Given the description of an element on the screen output the (x, y) to click on. 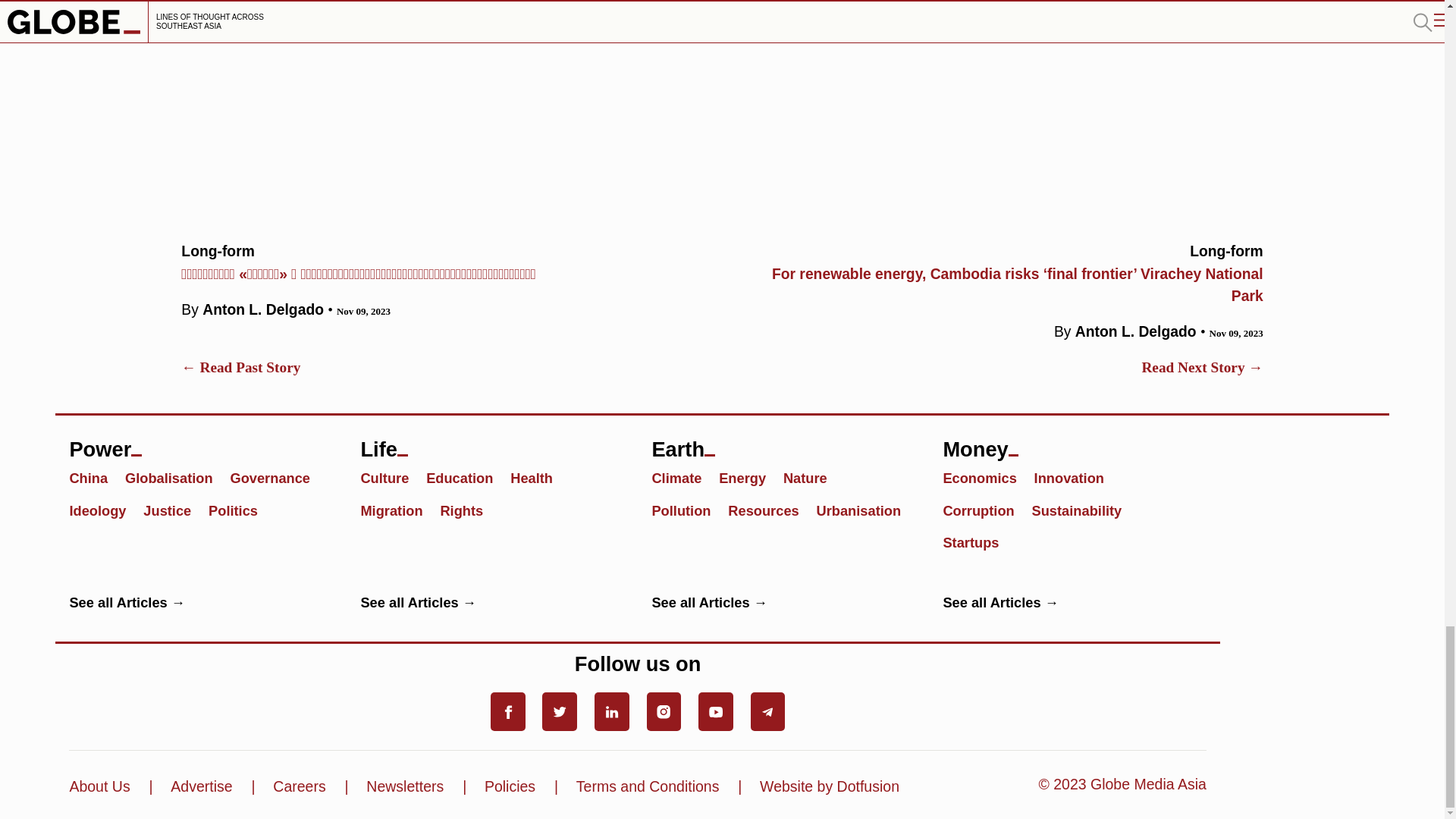
Power (199, 442)
Governance (276, 477)
Ideology (103, 509)
China (94, 477)
Globalisation (176, 477)
